Given the description of an element on the screen output the (x, y) to click on. 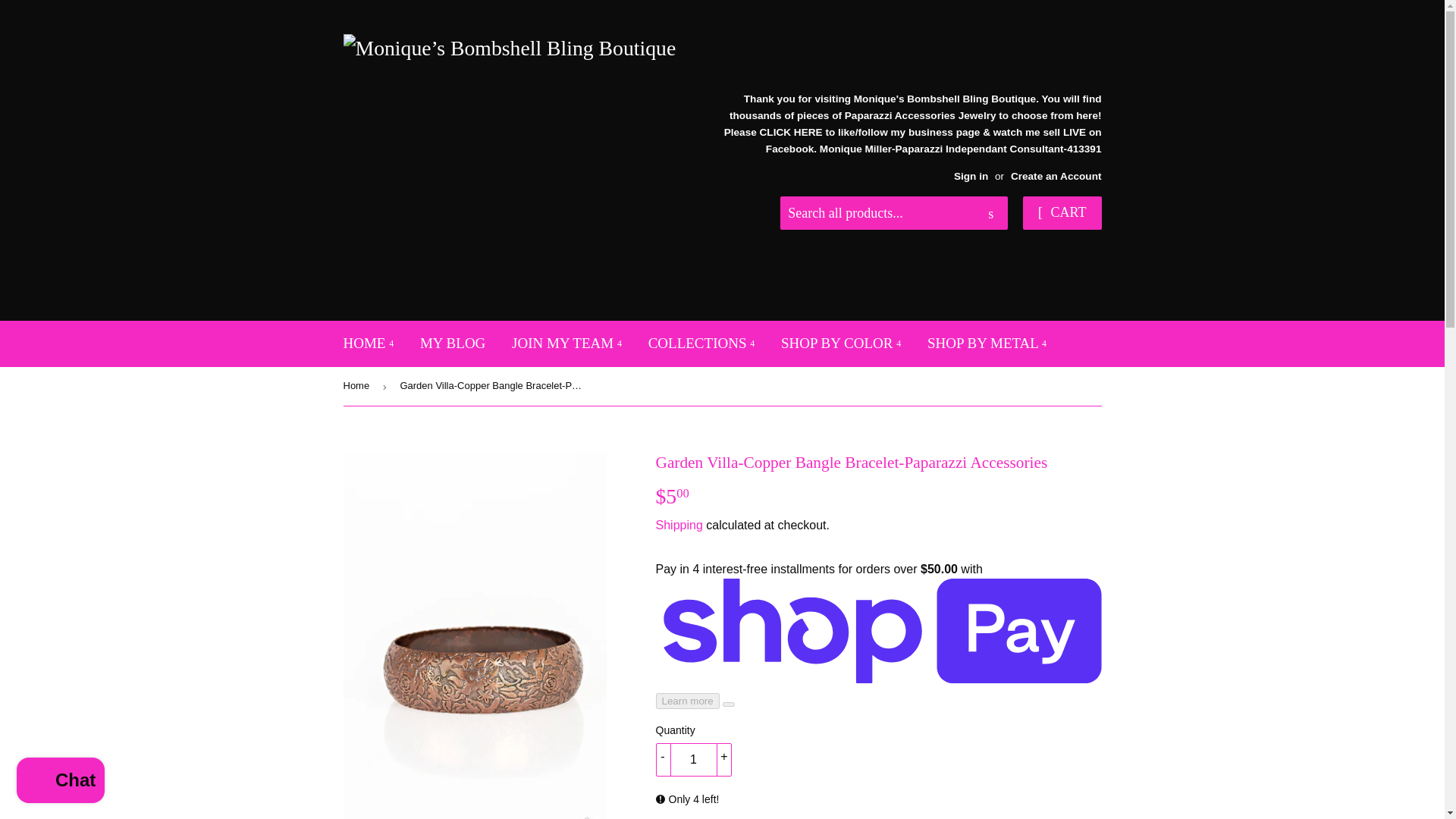
Search (990, 214)
CART (1062, 213)
Shopify online store chat (60, 781)
Sign in (970, 175)
1 (692, 759)
Create an Account (1056, 175)
